Given the description of an element on the screen output the (x, y) to click on. 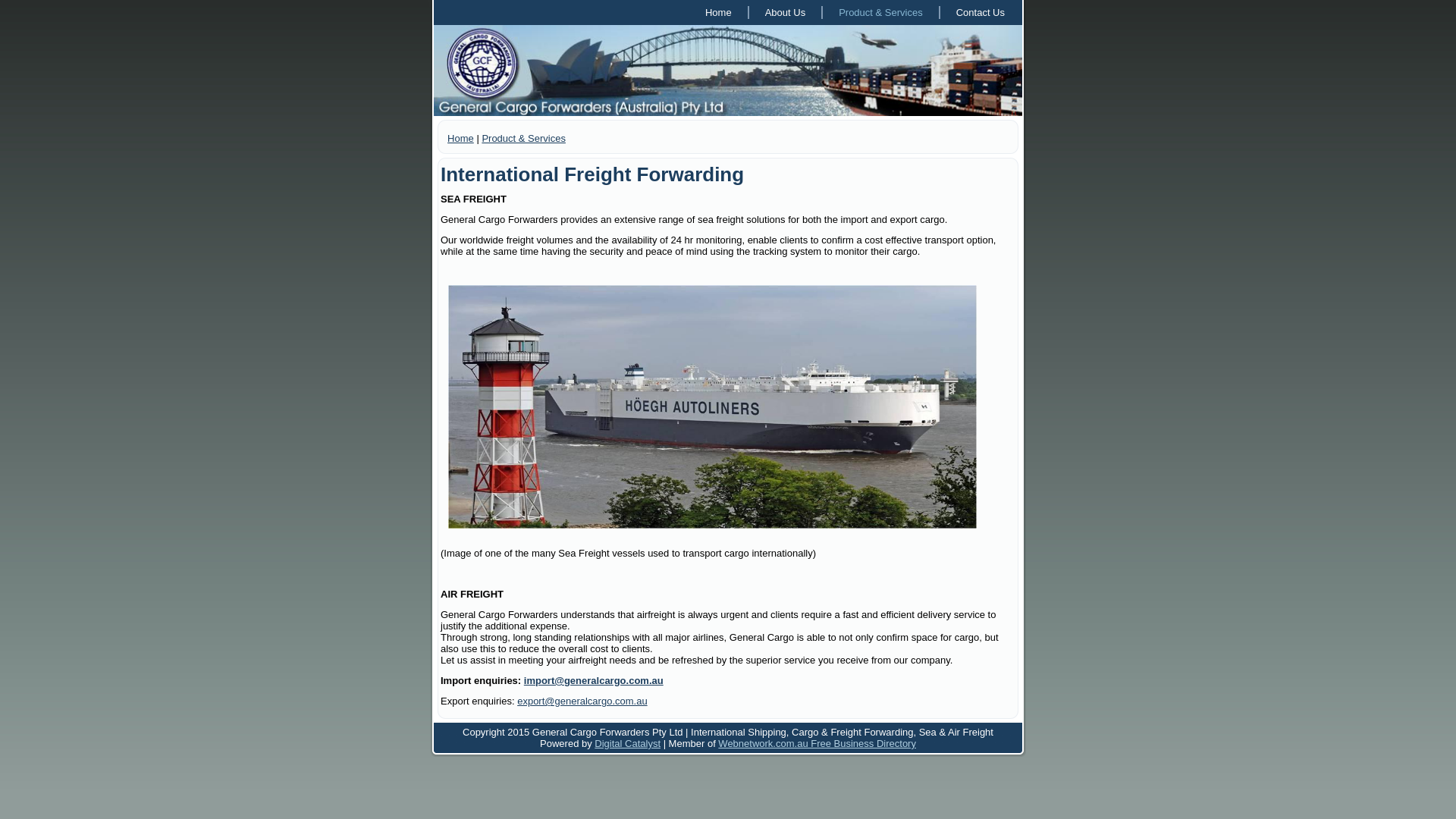
Home Element type: text (718, 12)
Digital Catalyst Element type: text (627, 743)
About Us Element type: text (785, 12)
Webnetwork.com.au Free Business Directory Element type: text (817, 743)
Contact Us Element type: text (980, 12)
Home Element type: text (460, 138)
Product & Services Element type: text (523, 138)
import@generalcargo.com.au Element type: text (593, 680)
export@generalcargo.com.au Element type: text (581, 700)
Product & Services Element type: text (880, 12)
